Given the description of an element on the screen output the (x, y) to click on. 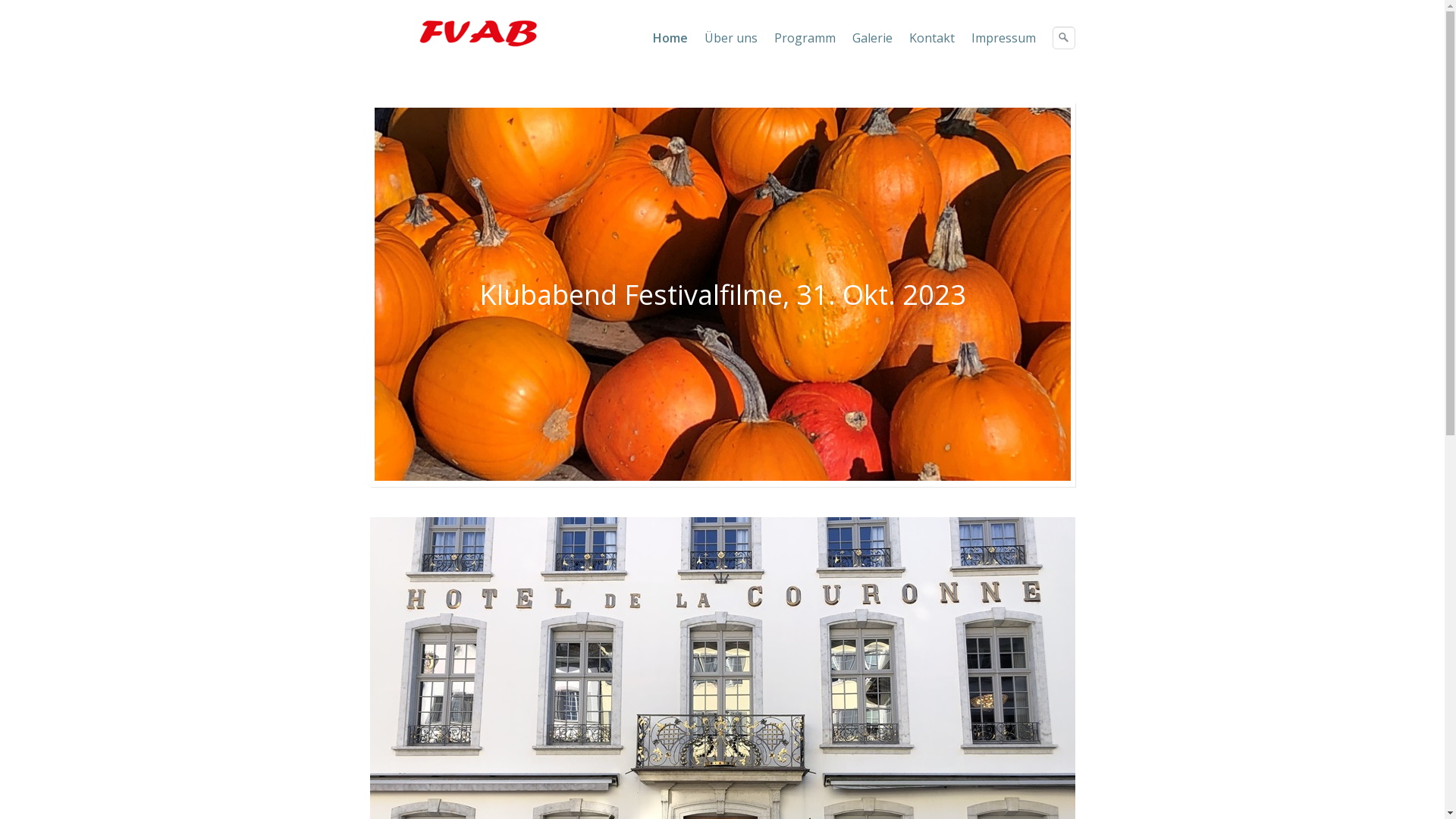
Programm Element type: text (803, 37)
Biel PD ice Element type: hover (456, 32)
Klubabend Festivalfilme, 31. Okt. 2023 Element type: text (722, 293)
Impressum Element type: text (1002, 37)
Home Element type: text (669, 37)
Suche Element type: hover (1063, 37)
Suchen Element type: hover (1062, 37)
Galerie Element type: text (872, 37)
Kontakt Element type: text (930, 37)
